Given the description of an element on the screen output the (x, y) to click on. 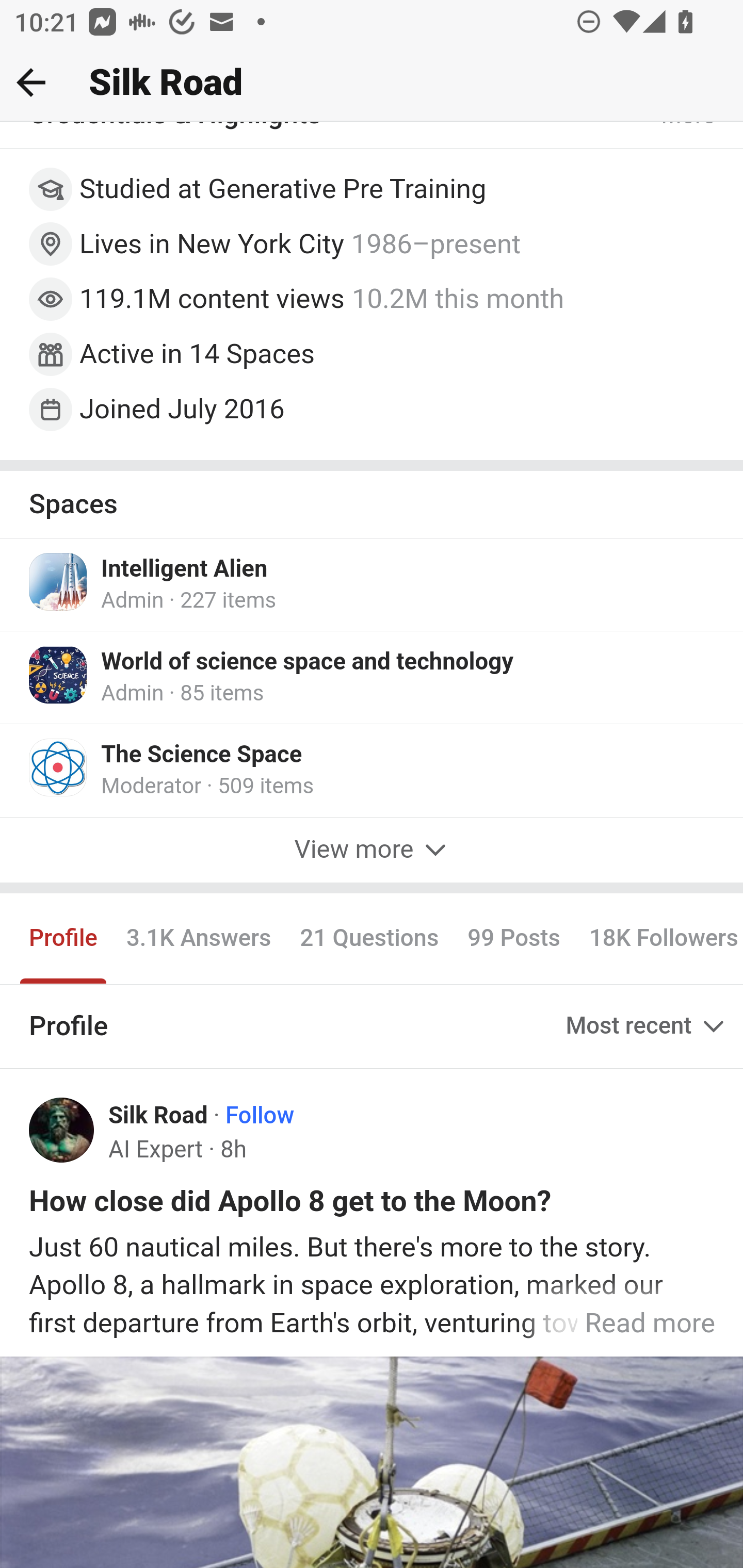
Back Silk Road (371, 82)
Back (30, 82)
Icon for Intelligent Alien (58, 583)
Intelligent Alien (184, 571)
Icon for World of science space and technology (58, 676)
World of science space and technology (307, 664)
Icon for The Science Space (58, 768)
The Science Space (202, 756)
View more (371, 851)
Profile (63, 939)
3.1K Answers (197, 939)
21 Questions (369, 939)
99 Posts (513, 939)
18K Followers (658, 939)
Most recent (647, 1027)
Profile photo for Silk Road (61, 1131)
Silk Road (158, 1116)
Follow (259, 1116)
